Given the description of an element on the screen output the (x, y) to click on. 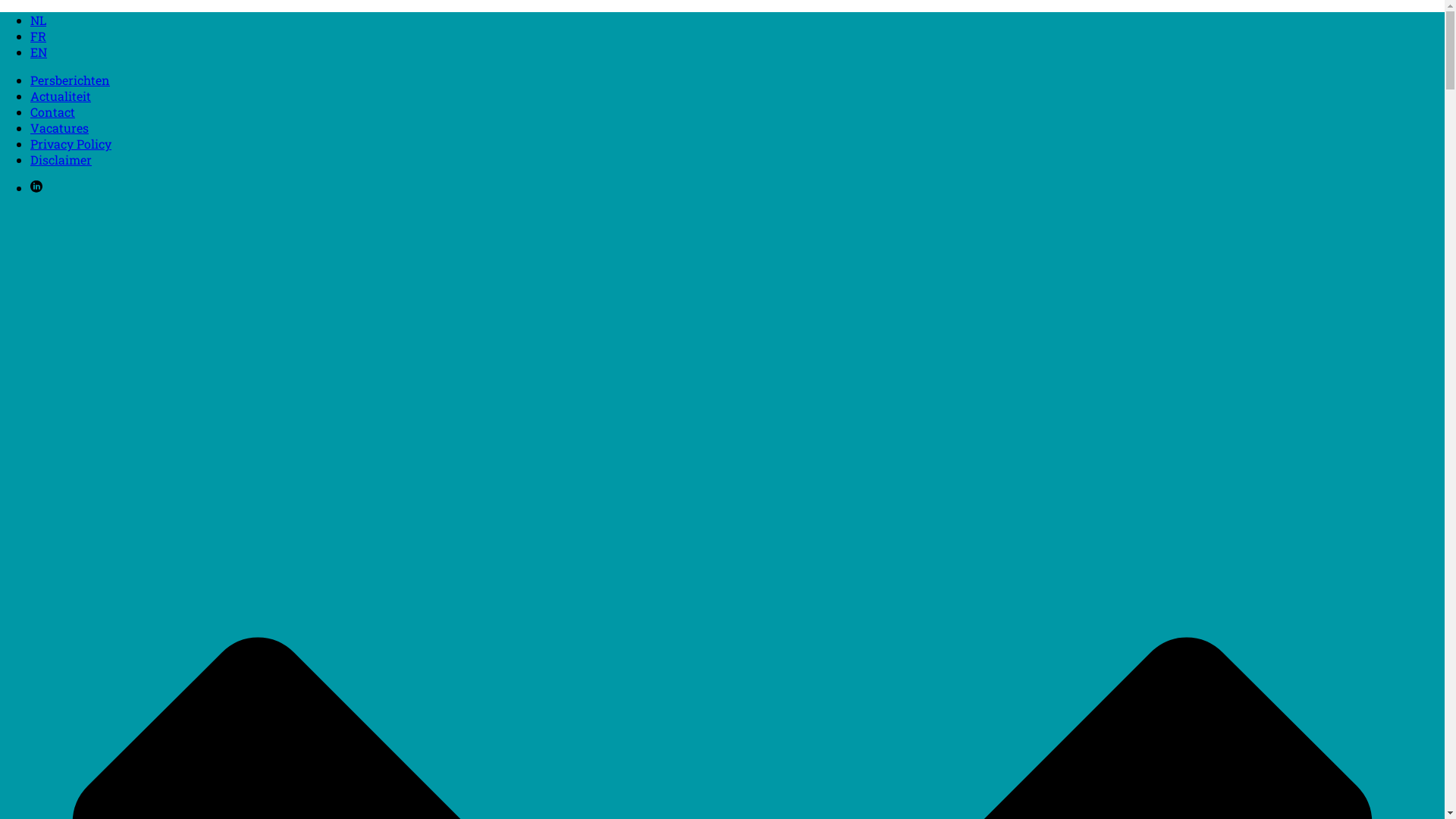
NL Element type: text (38, 20)
Vacatures Element type: text (59, 127)
Actualiteit Element type: text (60, 95)
Persberichten Element type: text (69, 79)
FR Element type: text (38, 35)
Contact Element type: text (52, 111)
EN Element type: text (38, 51)
Disclaimer Element type: text (60, 159)
Privacy Policy Element type: text (70, 143)
